Given the description of an element on the screen output the (x, y) to click on. 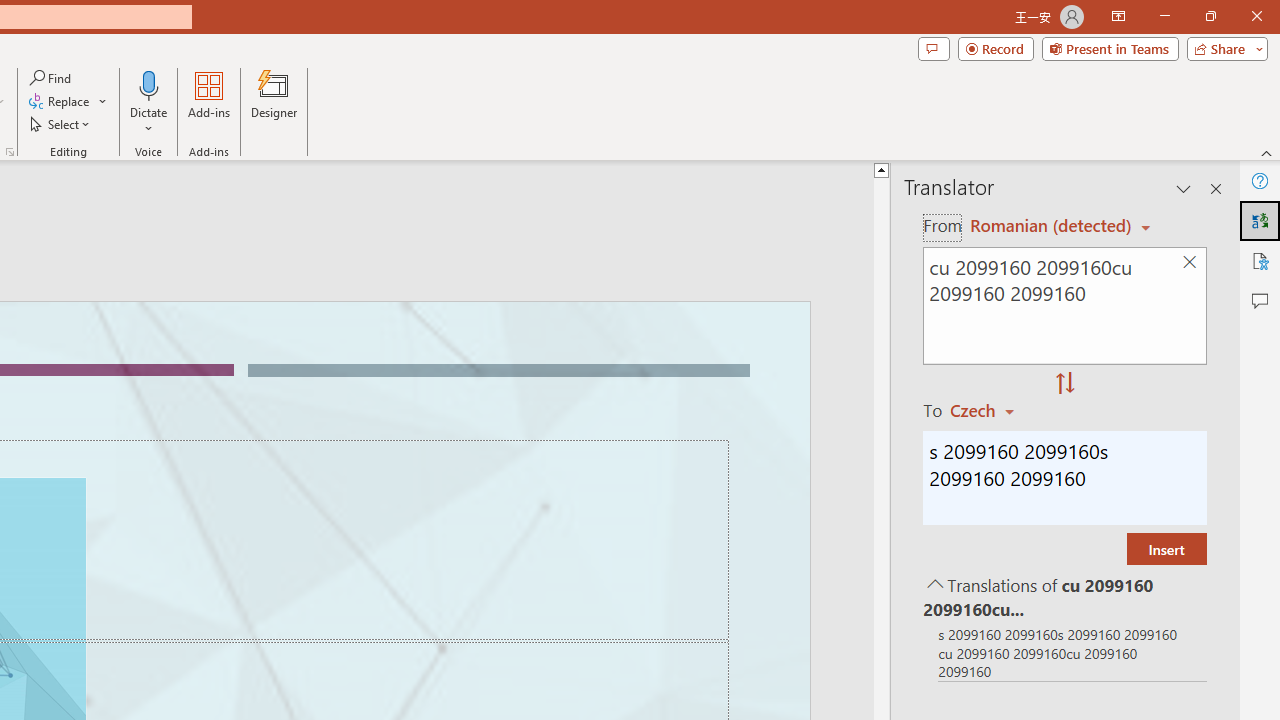
Clear text (1189, 262)
Swap "from" and "to" languages. (1065, 383)
Translations of cu 2099160 2099160cu 2099160 2099160 (1064, 596)
